Given the description of an element on the screen output the (x, y) to click on. 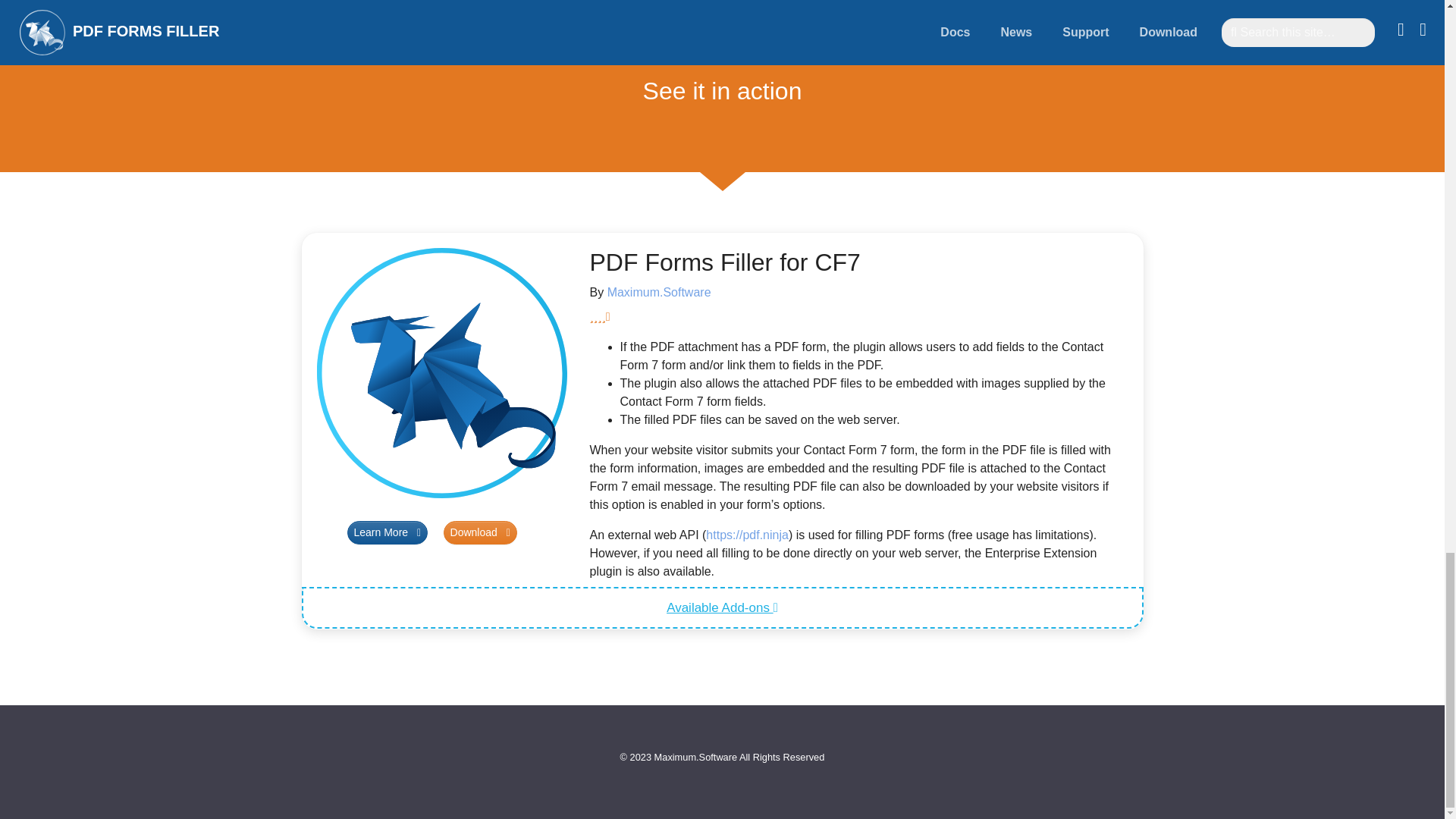
Learn More (387, 532)
Download (480, 532)
Rating 4.75 of 5 (858, 316)
Maximum.Software (659, 291)
